Given the description of an element on the screen output the (x, y) to click on. 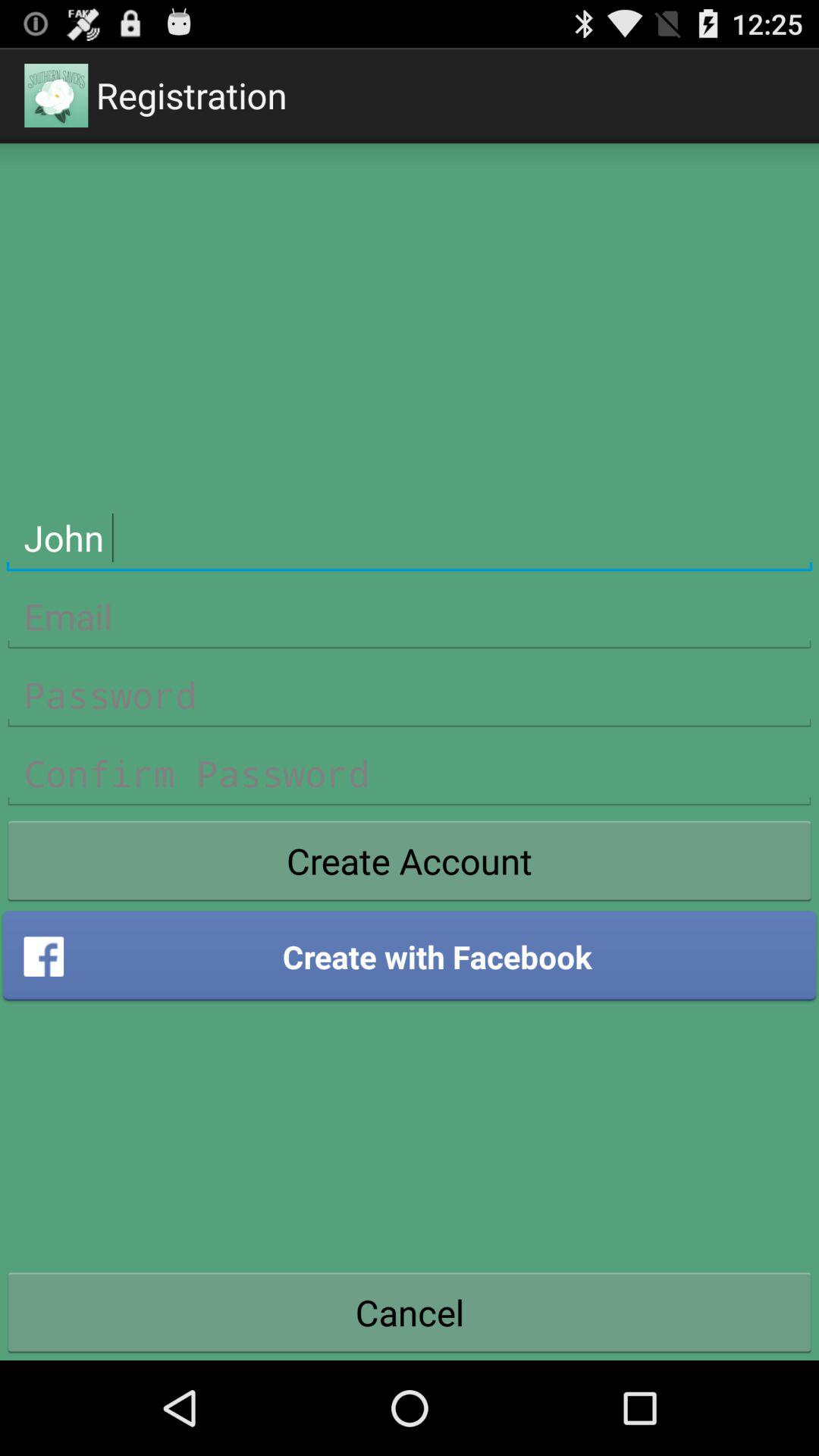
confirm password in registration form (409, 773)
